Given the description of an element on the screen output the (x, y) to click on. 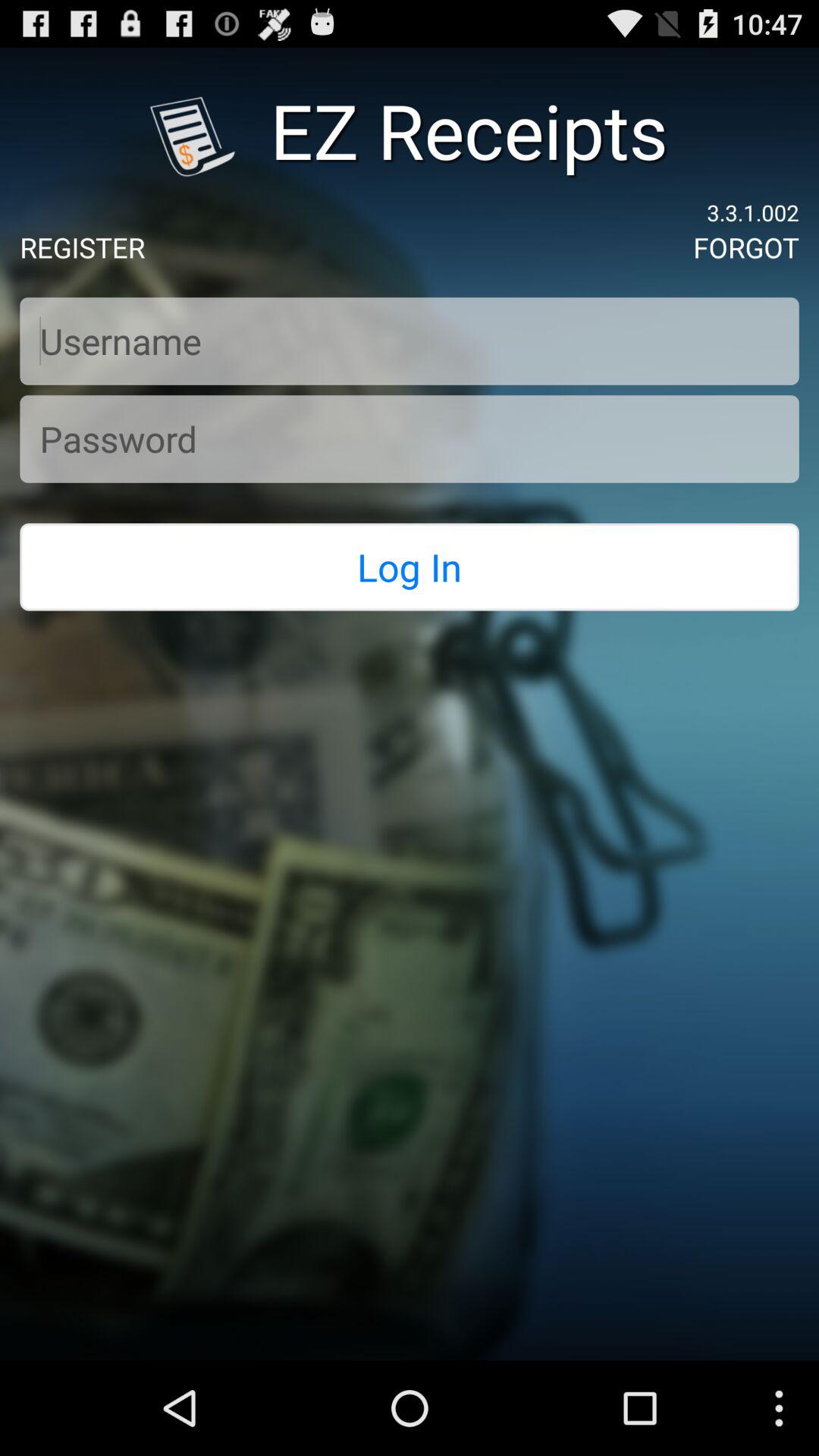
tap the icon to the right of the register app (746, 247)
